Given the description of an element on the screen output the (x, y) to click on. 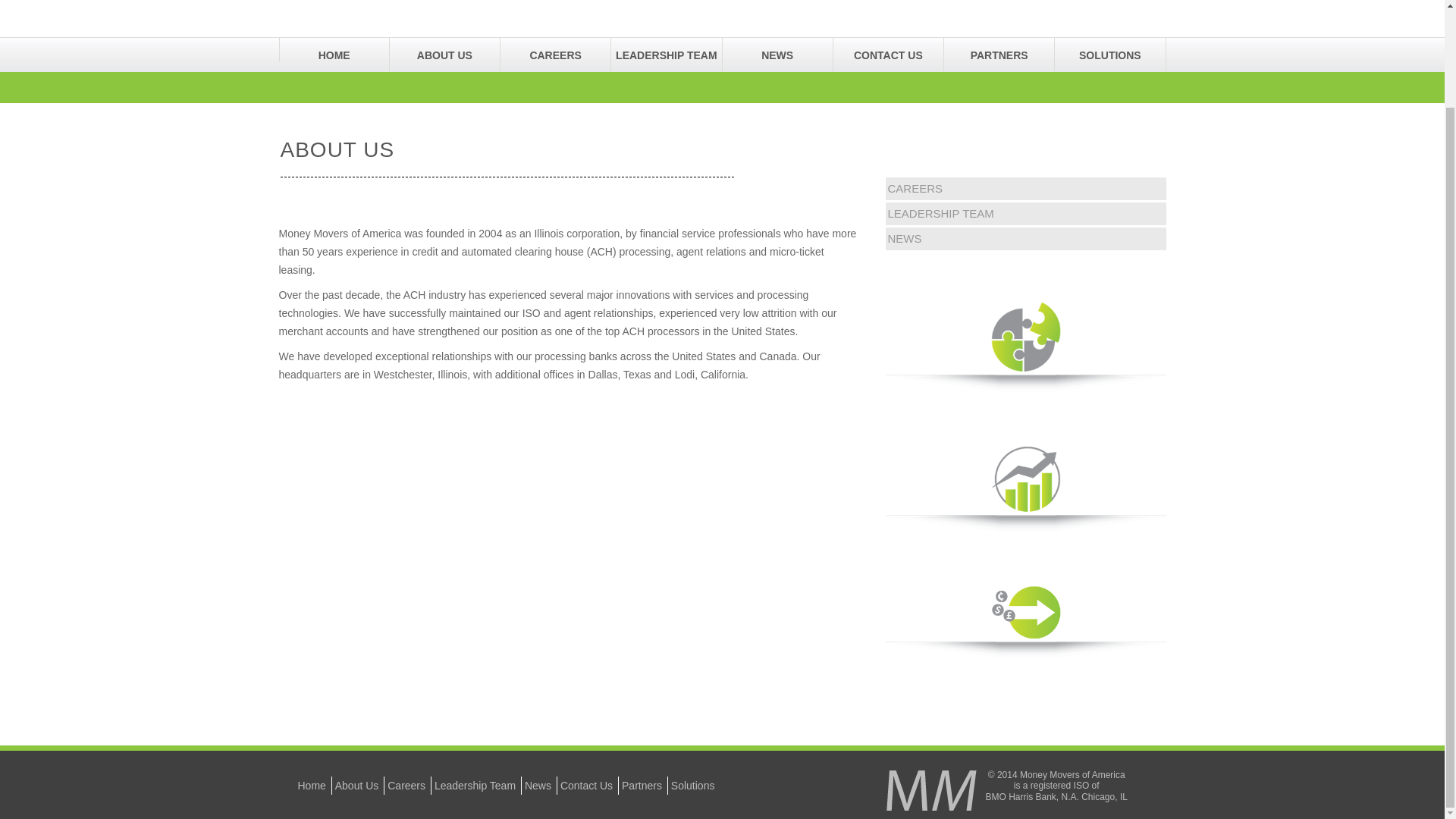
Partners (641, 785)
ABOUT US (444, 49)
SOLUTIONS (1109, 49)
CONTACT US (887, 49)
LEADERSHIP TEAM (939, 213)
CAREERS (914, 187)
Leadership Team (474, 785)
PARTNERS (998, 49)
About Us (356, 785)
HOME (333, 49)
Solutions (692, 785)
Home (310, 785)
LEADERSHIP TEAM (665, 49)
NEWS (776, 49)
Contact Us (586, 785)
